Given the description of an element on the screen output the (x, y) to click on. 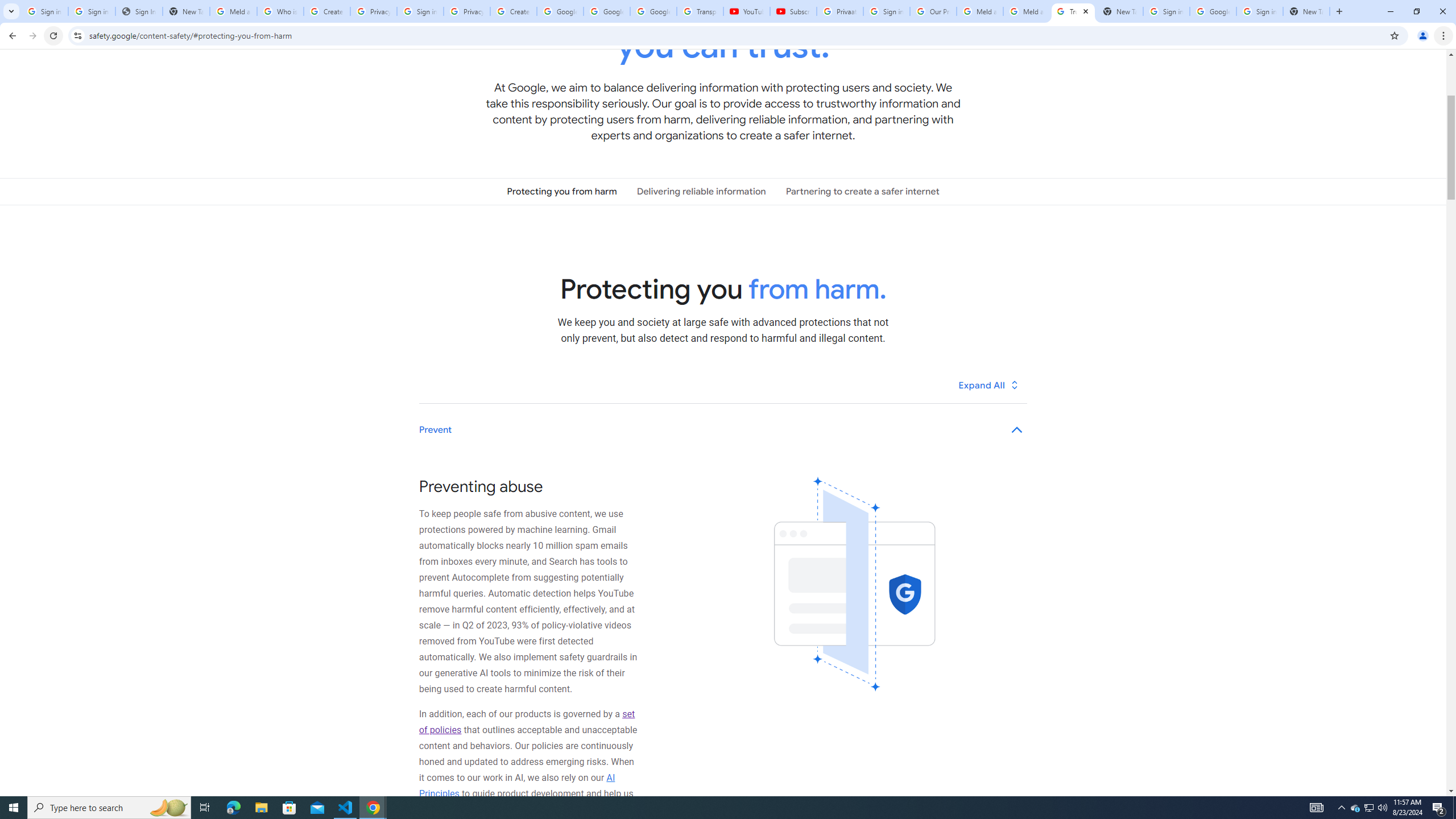
Subscriptions - YouTube (792, 11)
Prevent (723, 429)
Create your Google Account (512, 11)
Sign In - USA TODAY (138, 11)
Protecting you from harm (561, 191)
Expand All (988, 384)
Partnering to create a safer internet (862, 191)
Trusted Information and Content - Google Safety Center (1073, 11)
